Given the description of an element on the screen output the (x, y) to click on. 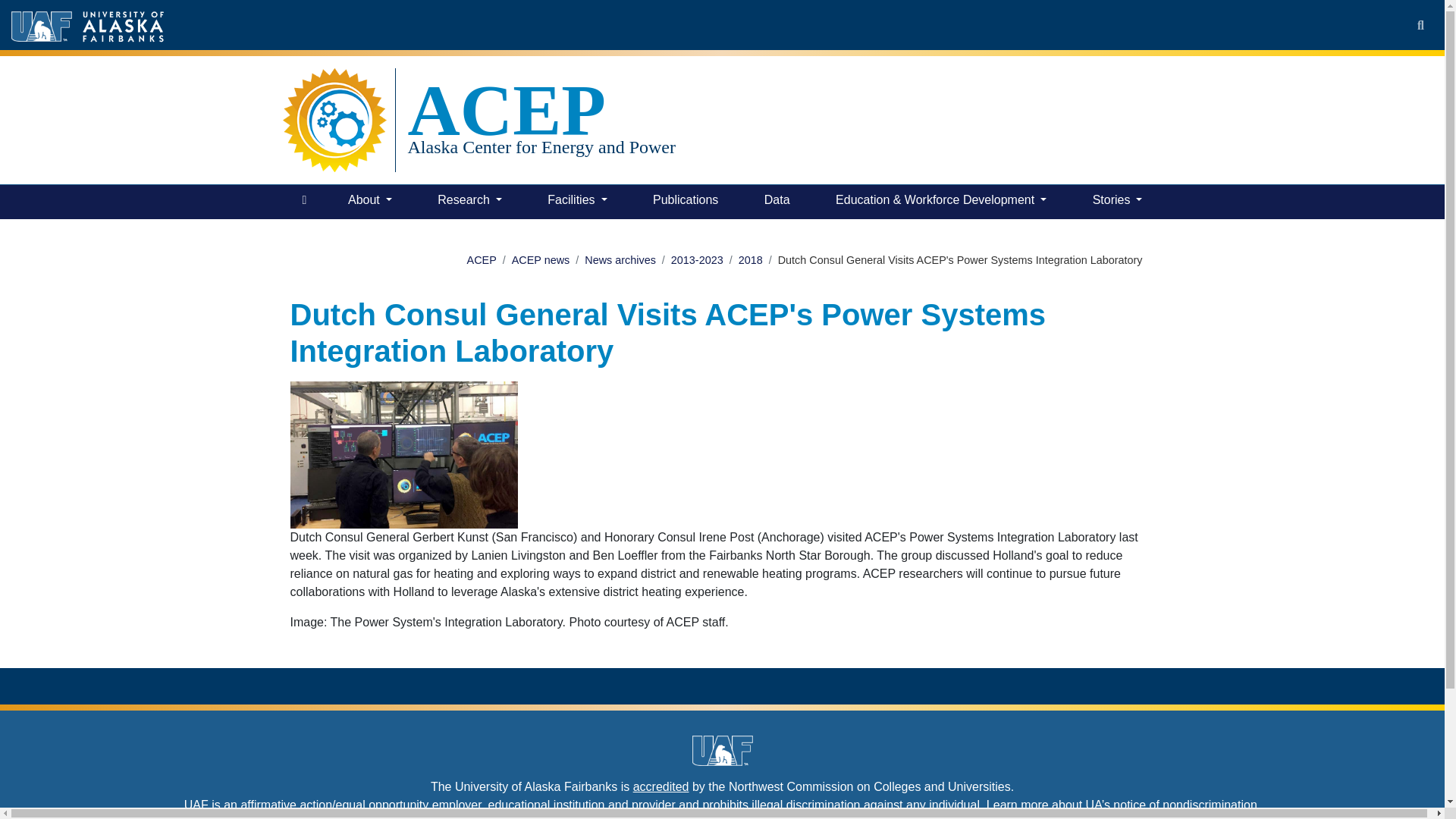
Stories (1117, 202)
Research (468, 202)
Data (777, 202)
Publications (684, 202)
Facilities (576, 202)
About (369, 202)
ACEP (541, 109)
